Given the description of an element on the screen output the (x, y) to click on. 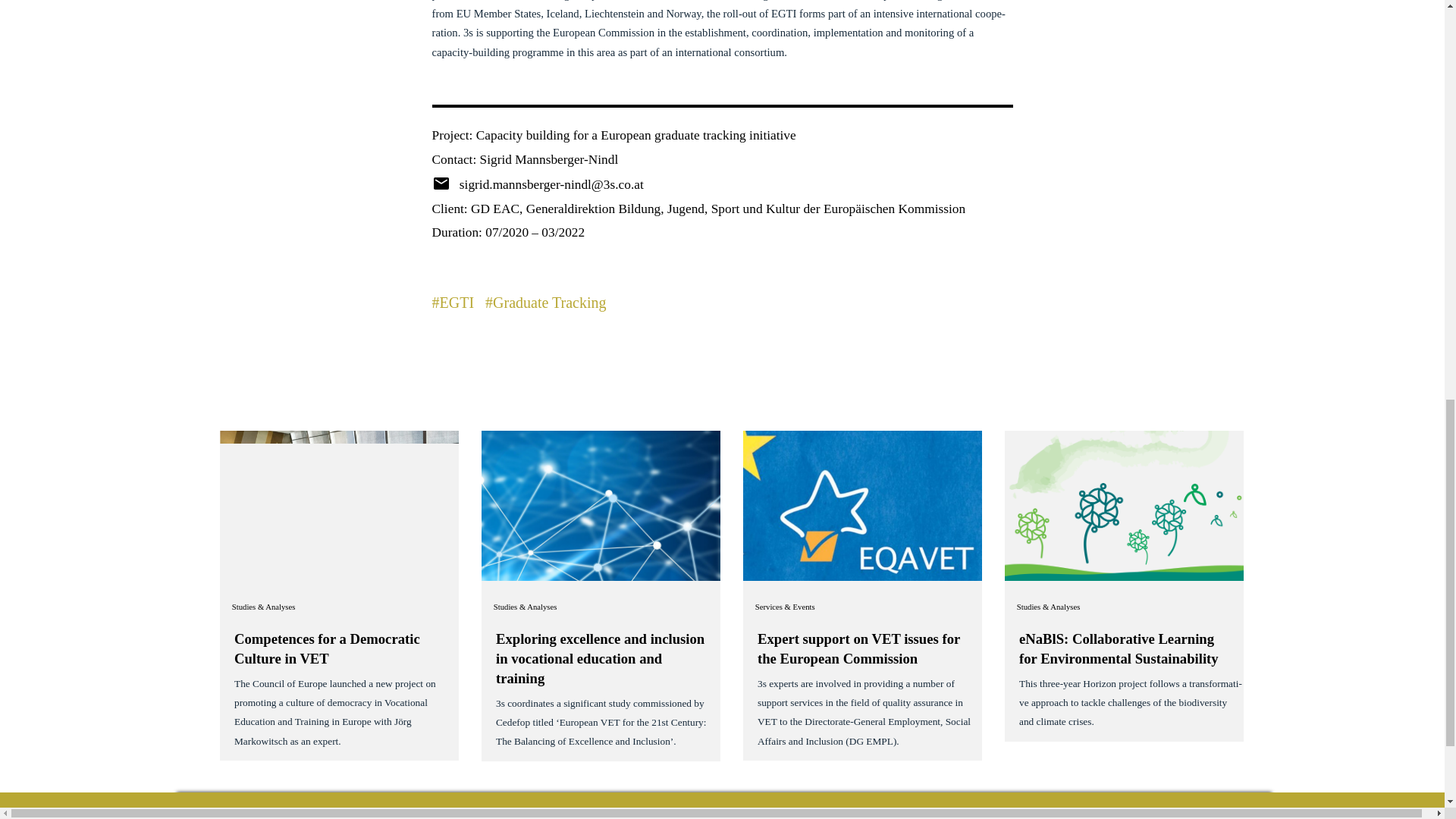
Graduate Tracking (549, 302)
EGTI (456, 302)
Expert support on VET issues for the European Commission (858, 648)
Competences for a Democratic Culture in VET (327, 648)
